Given the description of an element on the screen output the (x, y) to click on. 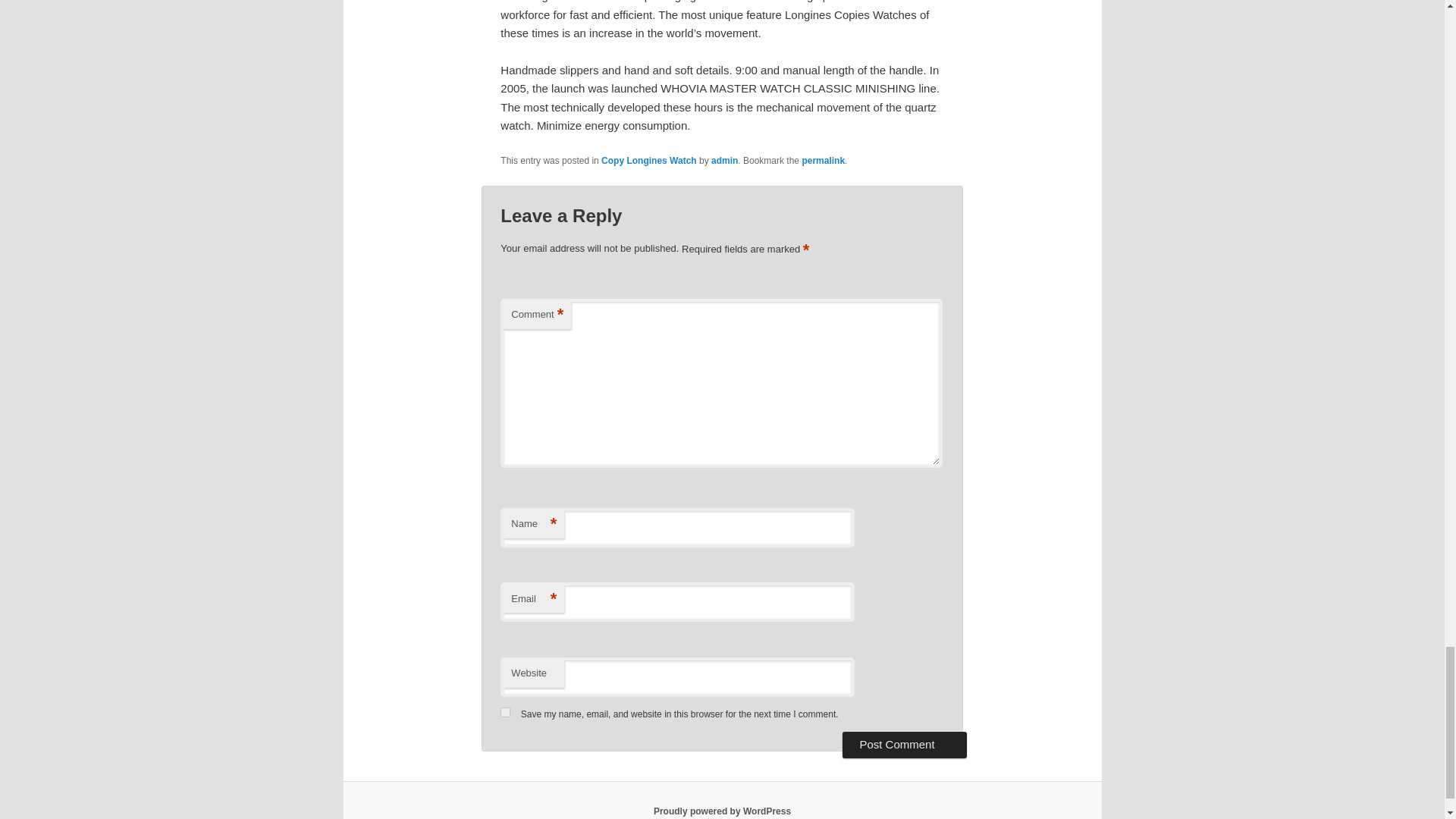
Copy Longines Watch (649, 160)
permalink (823, 160)
Post Comment (904, 744)
Proudly powered by WordPress (721, 810)
Post Comment (904, 744)
Semantic Personal Publishing Platform (721, 810)
yes (505, 712)
admin (724, 160)
